Given the description of an element on the screen output the (x, y) to click on. 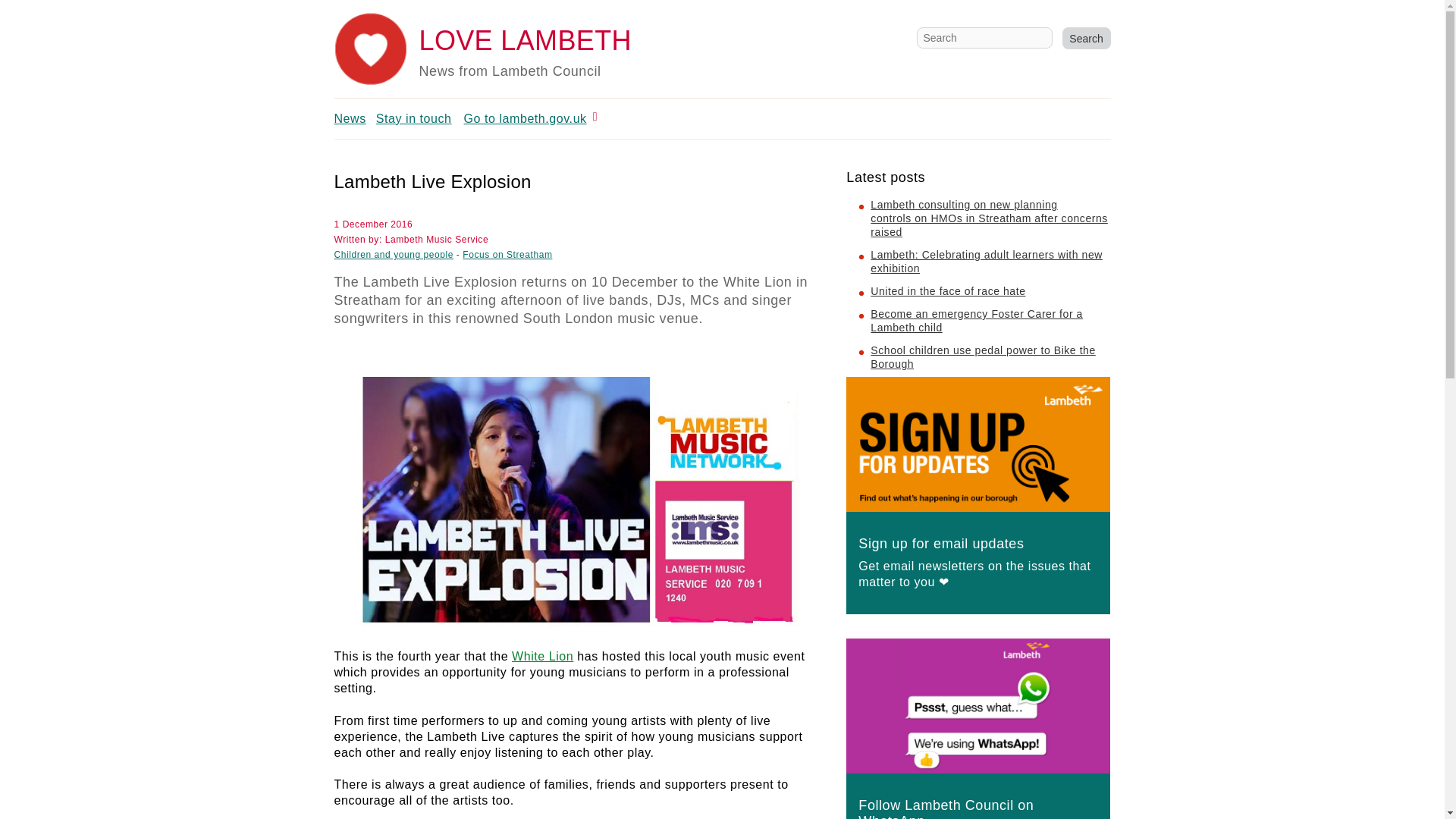
News (349, 118)
Become an emergency Foster Carer for a Lambeth child (976, 320)
Children and young people (392, 254)
Stay in touch (413, 118)
School children use pedal power to Bike the Borough (982, 356)
Search (1085, 38)
United in the face of race hate (947, 291)
Lambeth: Celebrating adult learners with new exhibition (986, 261)
Become an emergency Foster Carer for a Lambeth child (976, 320)
